Given the description of an element on the screen output the (x, y) to click on. 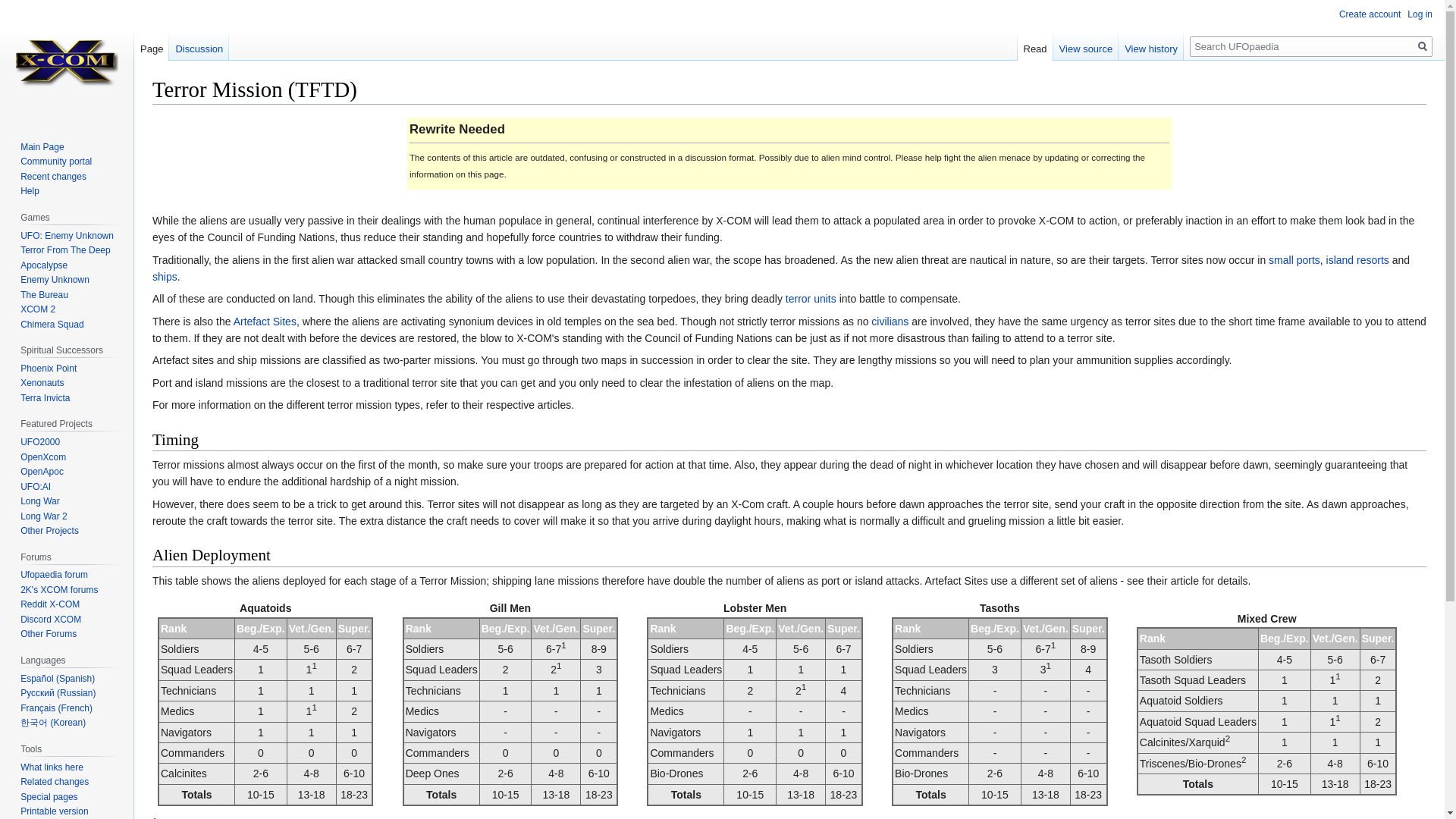
Help (29, 190)
Artefact Sites (264, 321)
ships (164, 276)
View source (1085, 45)
Discussion (198, 45)
Read (1034, 45)
island resorts (1357, 259)
Page (150, 45)
Log in (1419, 14)
Main Page (42, 146)
